Given the description of an element on the screen output the (x, y) to click on. 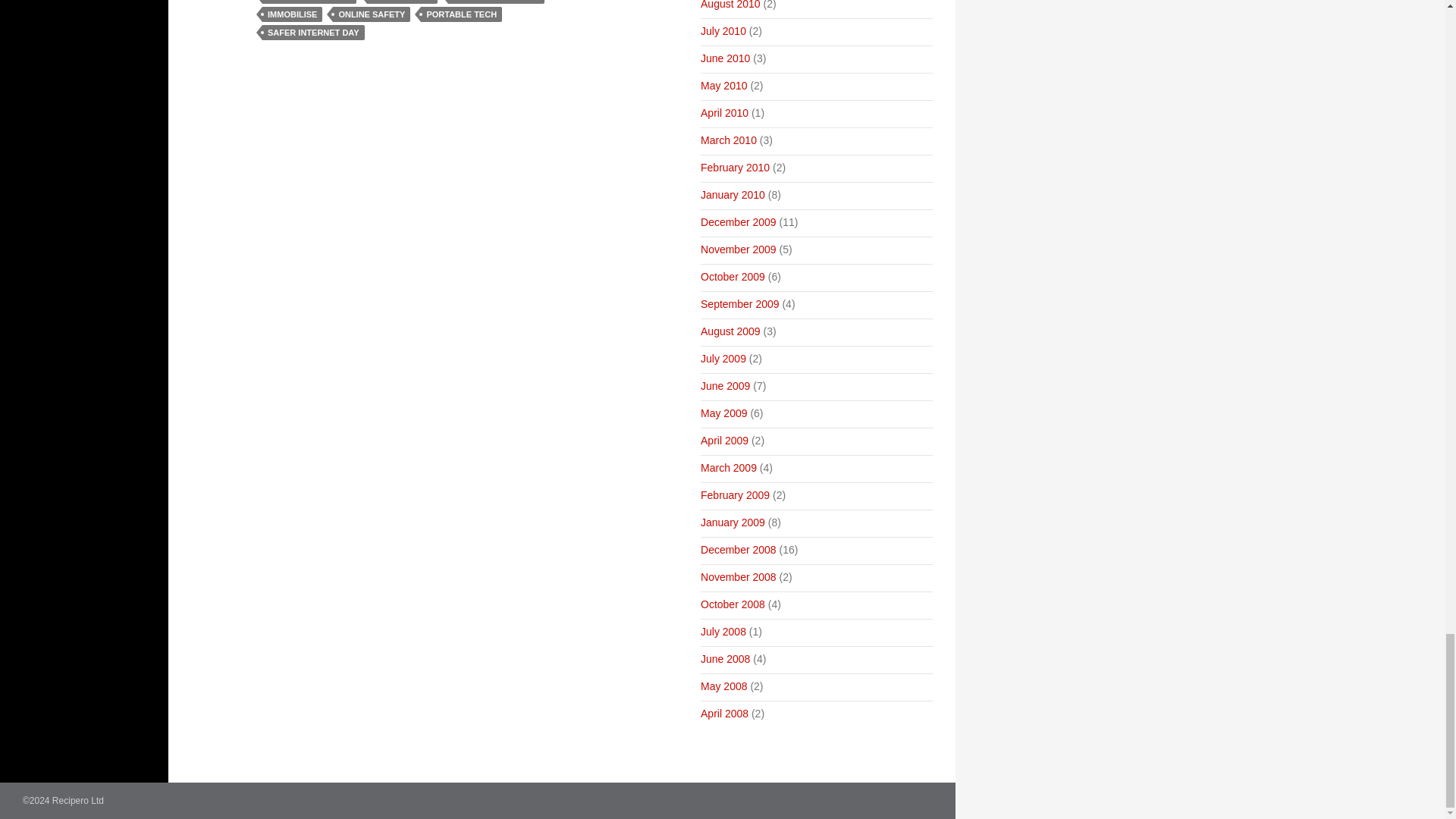
PORTABLE TECH (461, 14)
ONLINE SAFETY (371, 14)
DATA BREACH (402, 2)
CRIME PREVENTION (309, 2)
FRAUD PREVENTION (496, 2)
IMMOBILISE (291, 14)
SAFER INTERNET DAY (313, 32)
